Given the description of an element on the screen output the (x, y) to click on. 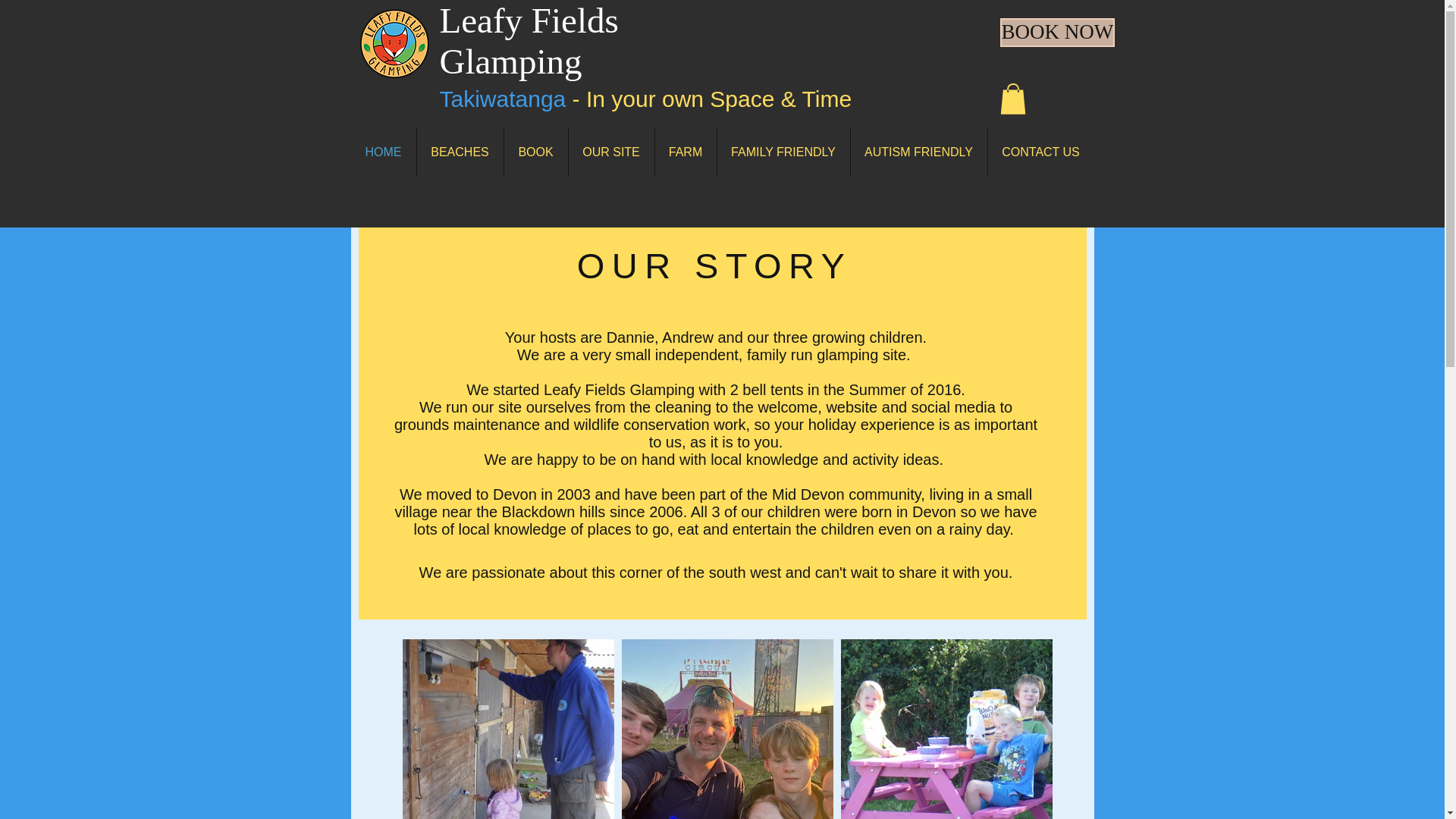
BEACHES (459, 151)
FARM (685, 151)
BOOK NOW (1056, 32)
CONTACT US (1040, 151)
AUTISM FRIENDLY (918, 151)
FAMILY FRIENDLY (783, 151)
OUR SITE (611, 151)
HOME (382, 151)
BOOK (535, 151)
